Given the description of an element on the screen output the (x, y) to click on. 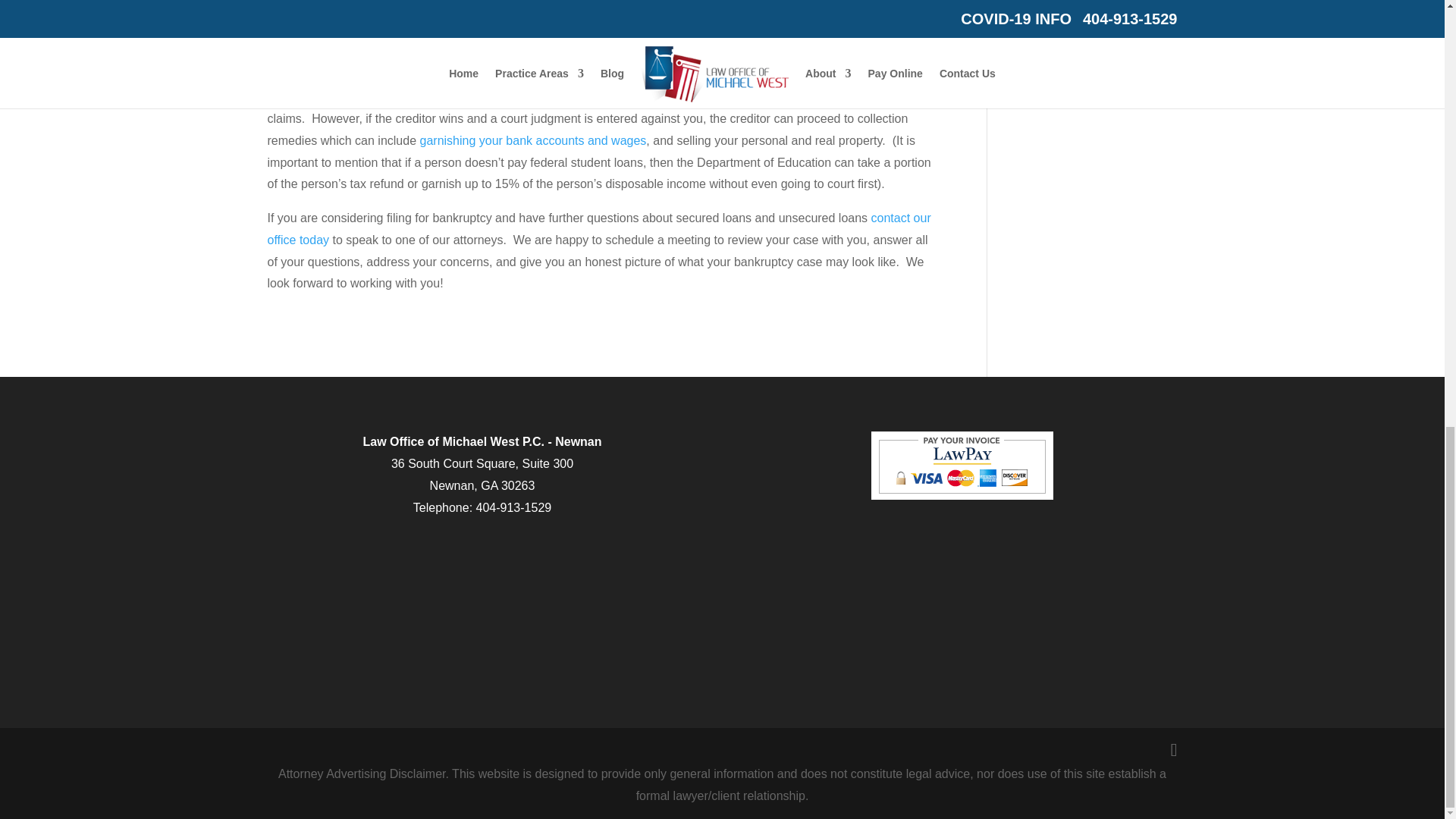
garnishing your bank accounts and wages (533, 140)
